Given the description of an element on the screen output the (x, y) to click on. 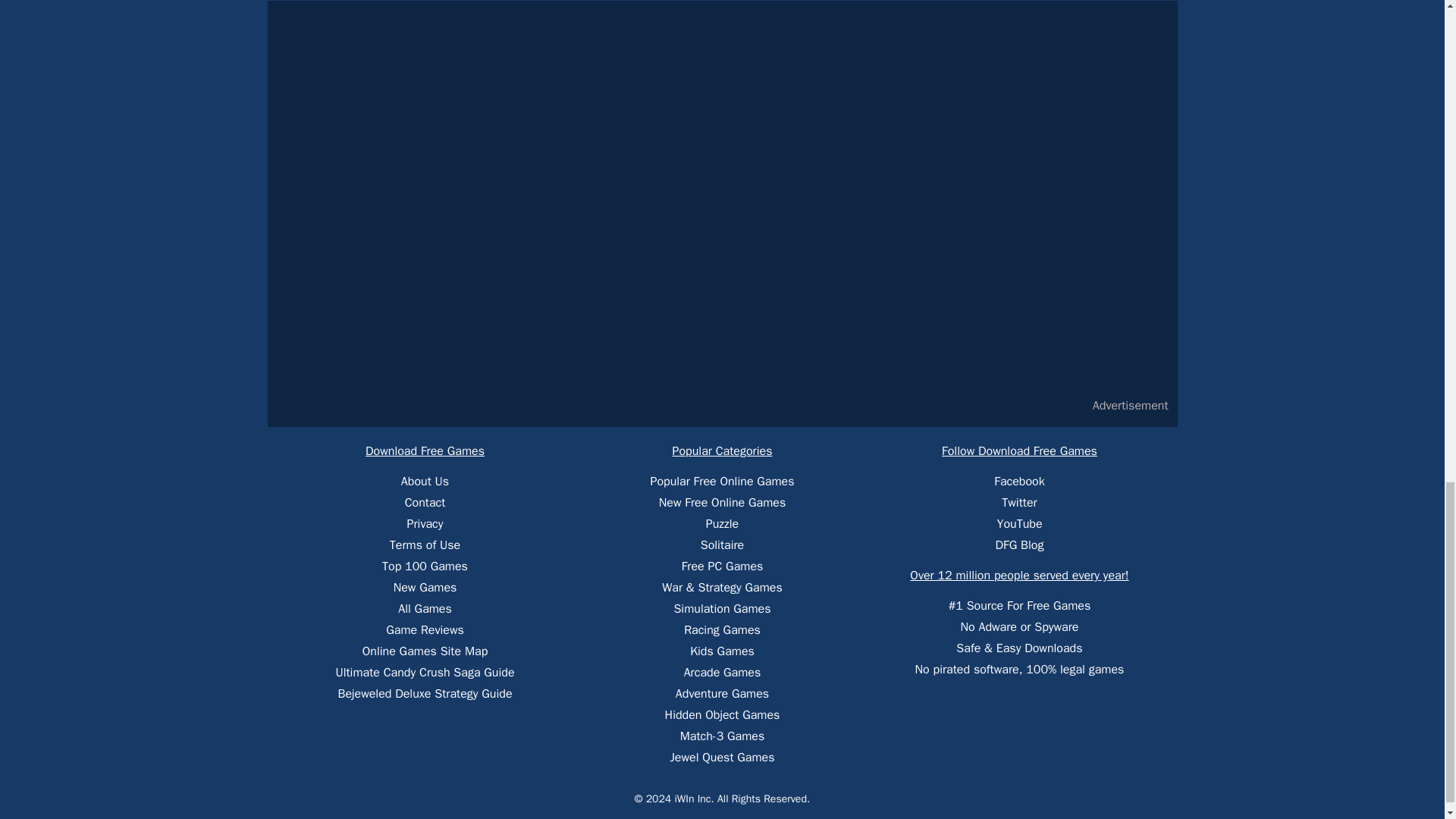
Top 100 Games (424, 566)
Contact (424, 502)
About Us (424, 481)
New Games (425, 587)
Privacy (425, 523)
Terms of Use (425, 544)
